Given the description of an element on the screen output the (x, y) to click on. 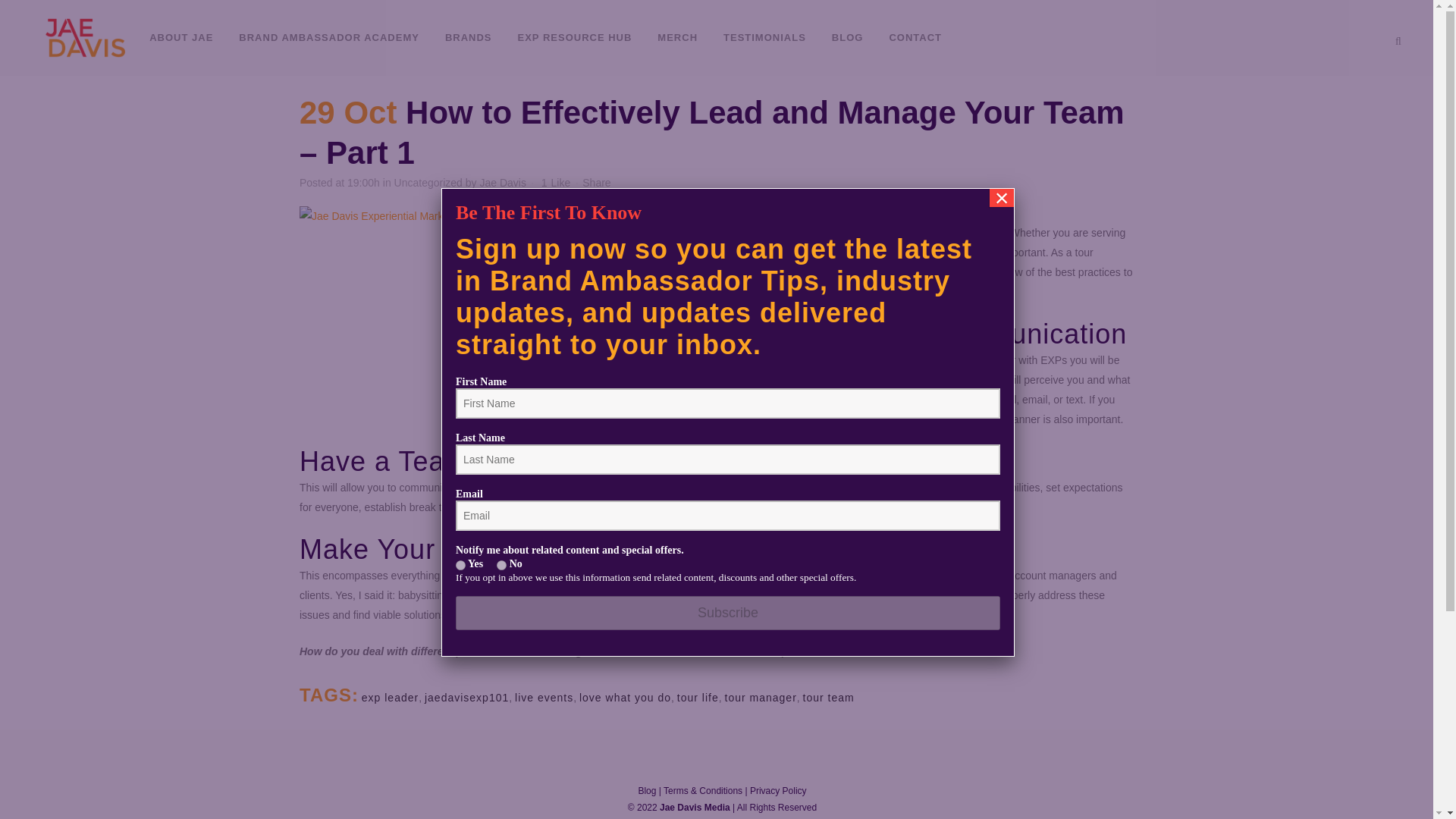
Uncategorized (428, 182)
yes (460, 565)
tour team (828, 697)
live events (544, 697)
Jae Davis (502, 182)
no (501, 565)
Schedule Your Consultation (427, 609)
CONTACT (915, 38)
TESTIMONIALS (764, 38)
ABOUT JAE (180, 38)
Like this (555, 182)
BRAND AMBASSADOR ACADEMY (328, 38)
EXP Resource Hub (729, 629)
Merch (729, 658)
tour manager (760, 697)
